Given the description of an element on the screen output the (x, y) to click on. 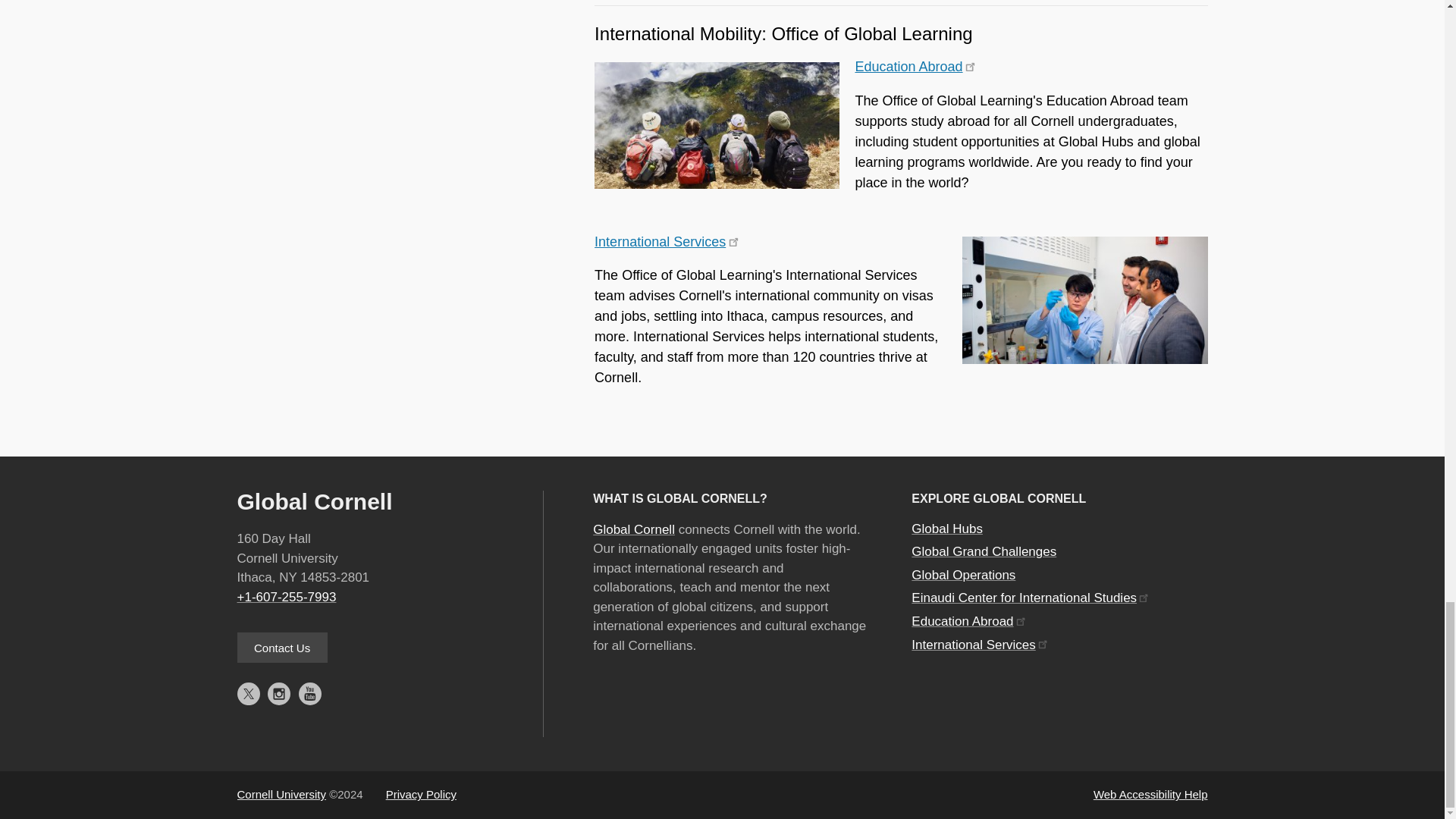
International Services (666, 241)
Education Abroad (914, 66)
